Given the description of an element on the screen output the (x, y) to click on. 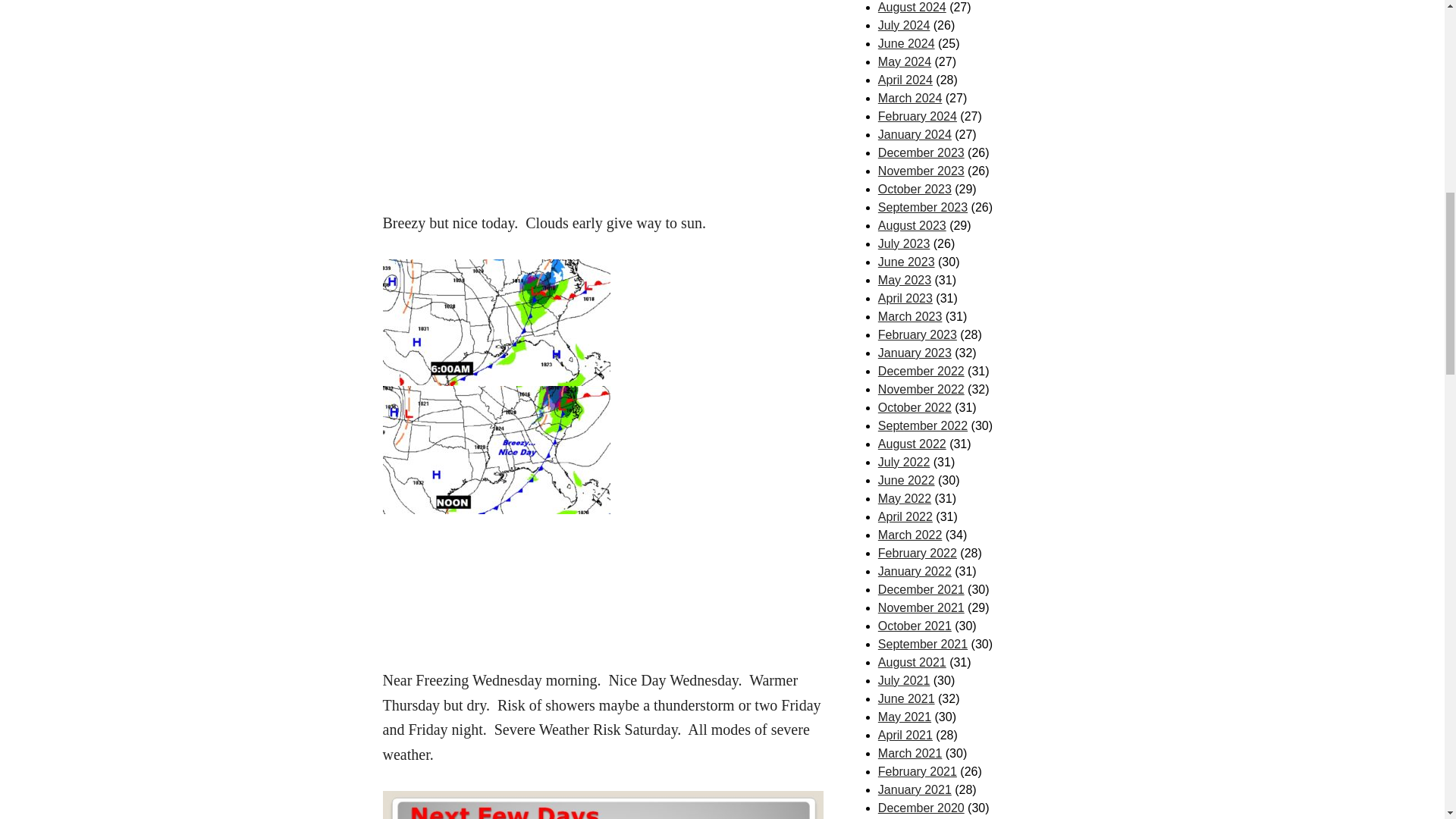
April 2023 (905, 297)
February 2023 (916, 334)
November 2023 (920, 170)
June 2024 (905, 42)
July 2023 (903, 243)
May 2024 (904, 61)
April 2024 (905, 79)
February 2024 (916, 115)
September 2023 (922, 206)
December 2023 (920, 152)
